Given the description of an element on the screen output the (x, y) to click on. 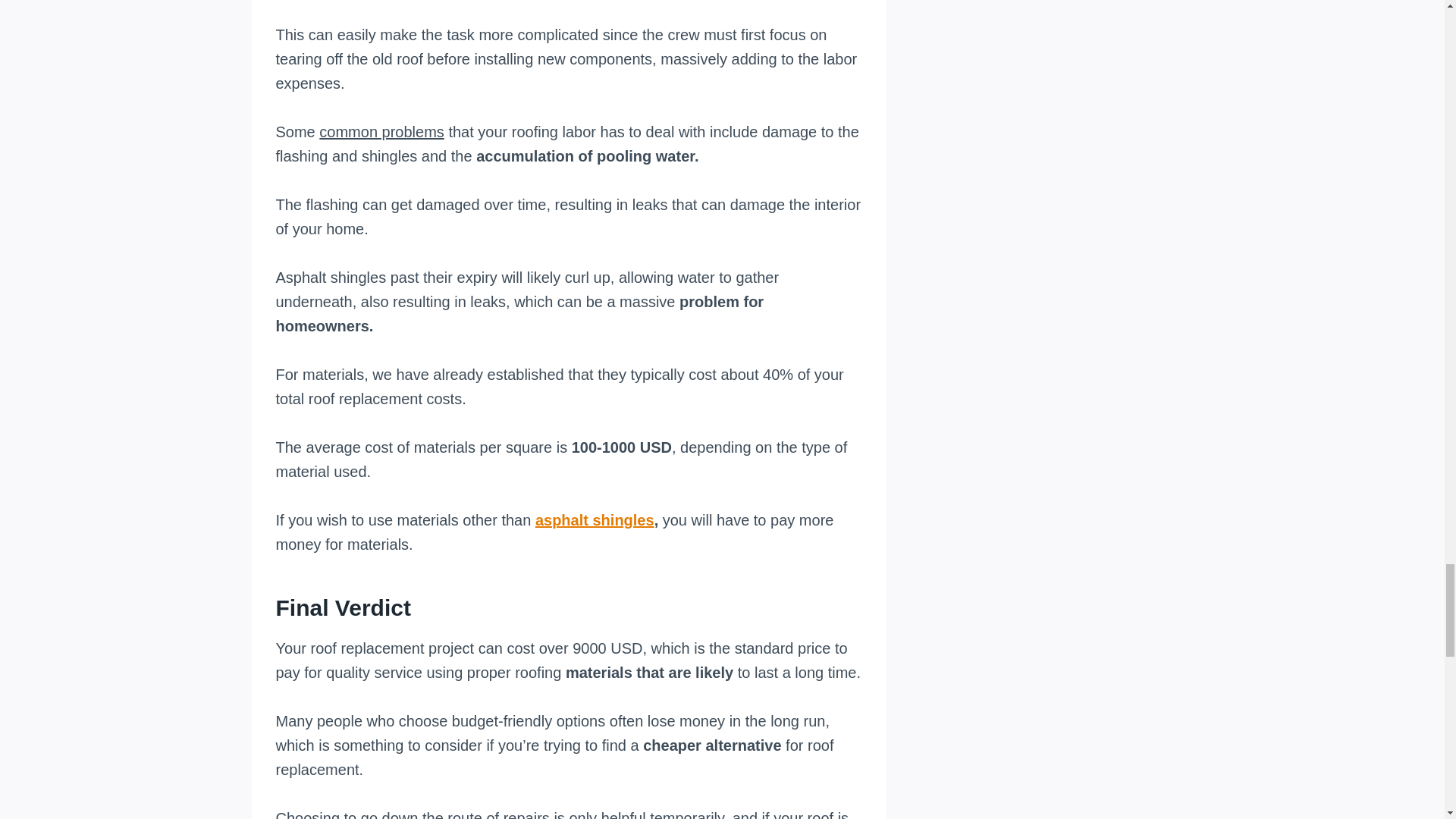
asphalt shingles (594, 519)
